Given the description of an element on the screen output the (x, y) to click on. 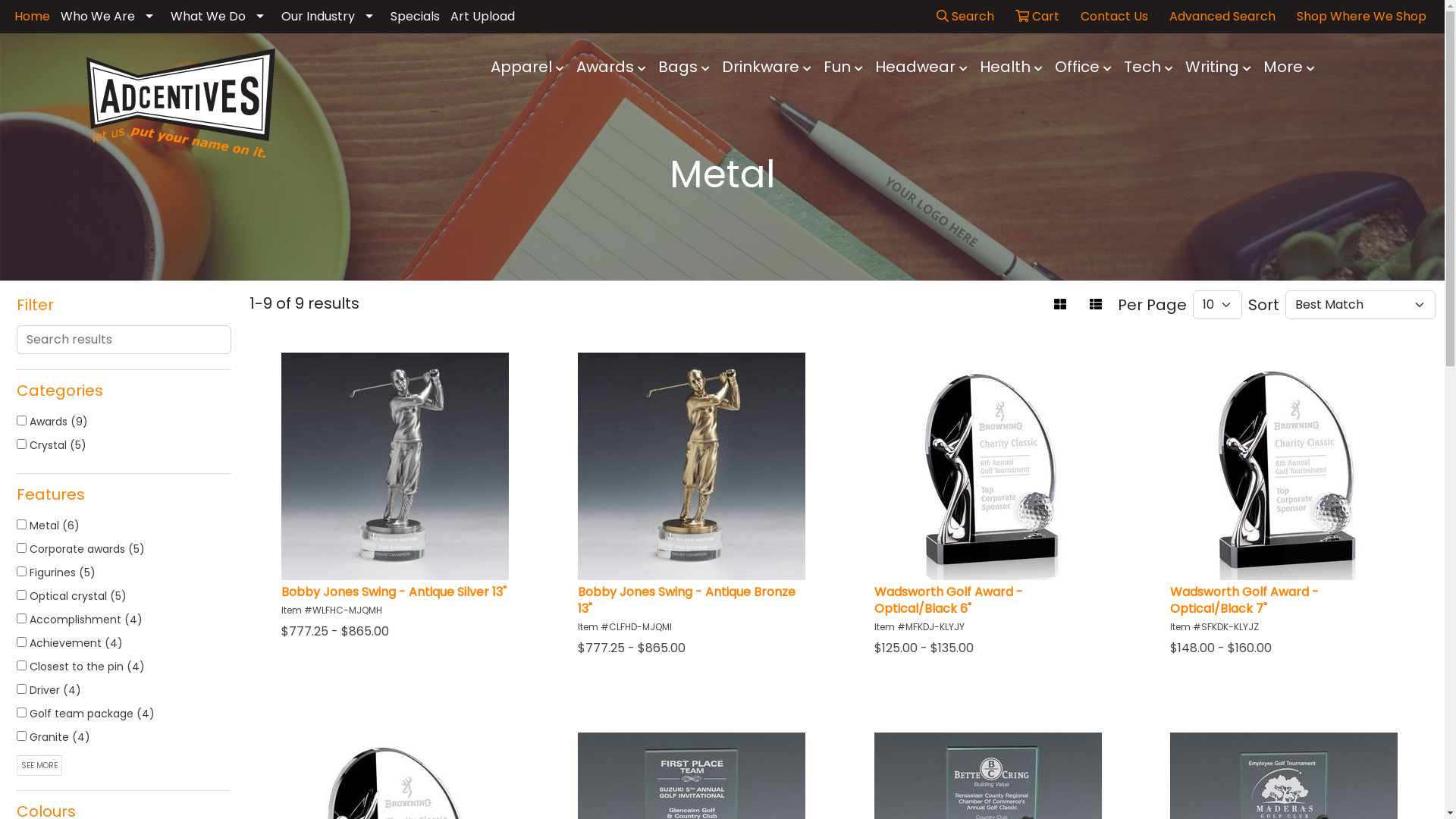
Cart Element type: text (1037, 16)
Specials Element type: text (415, 16)
Home Element type: text (32, 16)
What We Do Element type: text (220, 16)
Fun Element type: text (843, 67)
Our Industry Element type: text (330, 16)
More Element type: text (1289, 67)
Search Element type: text (965, 16)
Who We Are Element type: text (110, 16)
Art Upload Element type: text (482, 16)
Bags Element type: text (683, 67)
Shop Where We Shop Element type: text (1361, 16)
Contact Us Element type: text (1114, 16)
Advanced Search Element type: text (1222, 16)
Health Element type: text (1010, 67)
Writing Element type: text (1218, 67)
Awards Element type: text (611, 67)
Tech Element type: text (1148, 67)
Office Element type: text (1082, 67)
Drinkware Element type: text (766, 67)
Headwear Element type: text (921, 67)
Apparel Element type: text (527, 67)
